Given the description of an element on the screen output the (x, y) to click on. 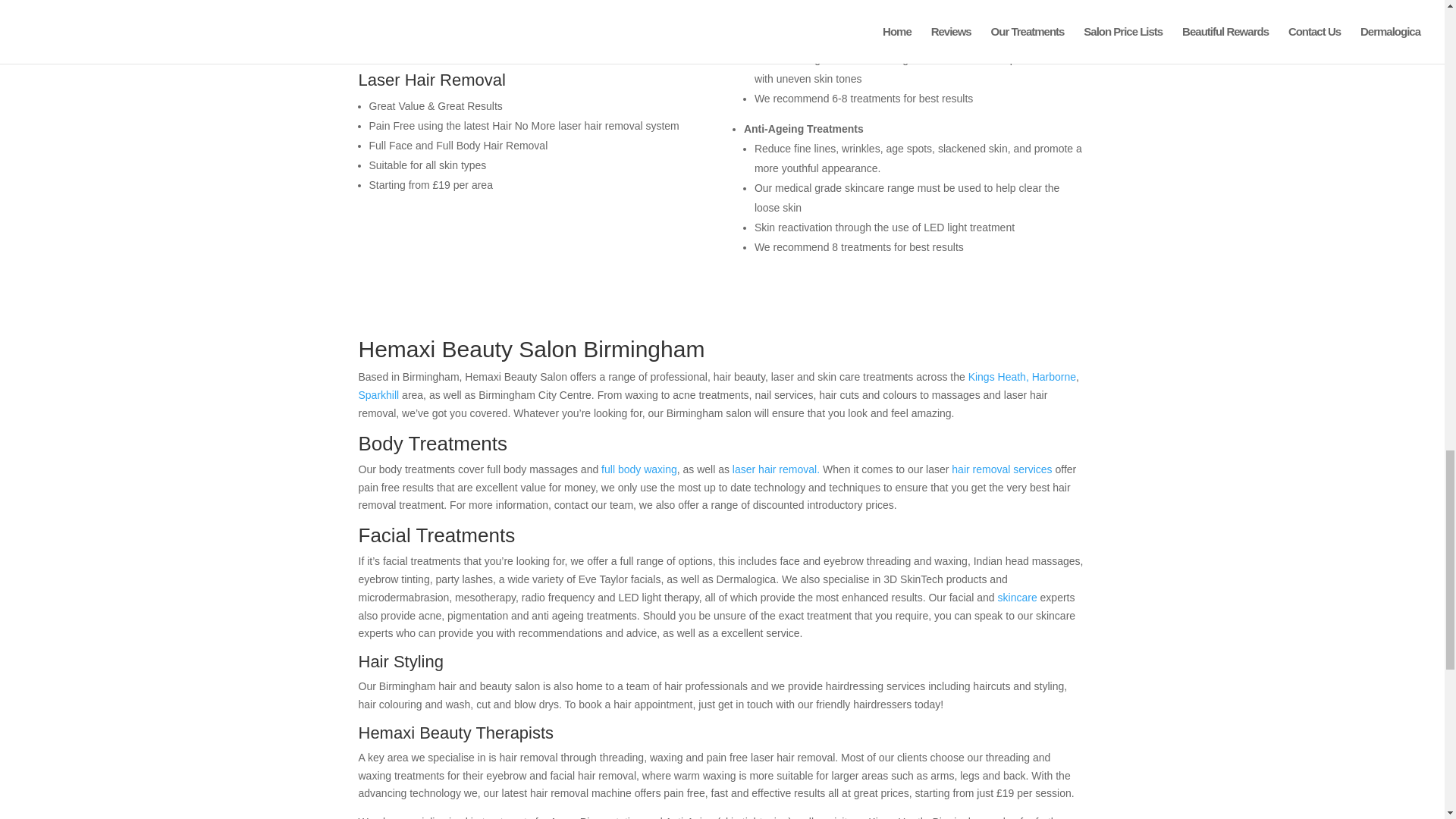
laser hair removal. (774, 469)
full body waxing (639, 469)
skincare (1016, 597)
Kings Heath, (998, 377)
Harborne (1053, 377)
hair removal services (1001, 469)
Sparkhill (378, 395)
